Given the description of an element on the screen output the (x, y) to click on. 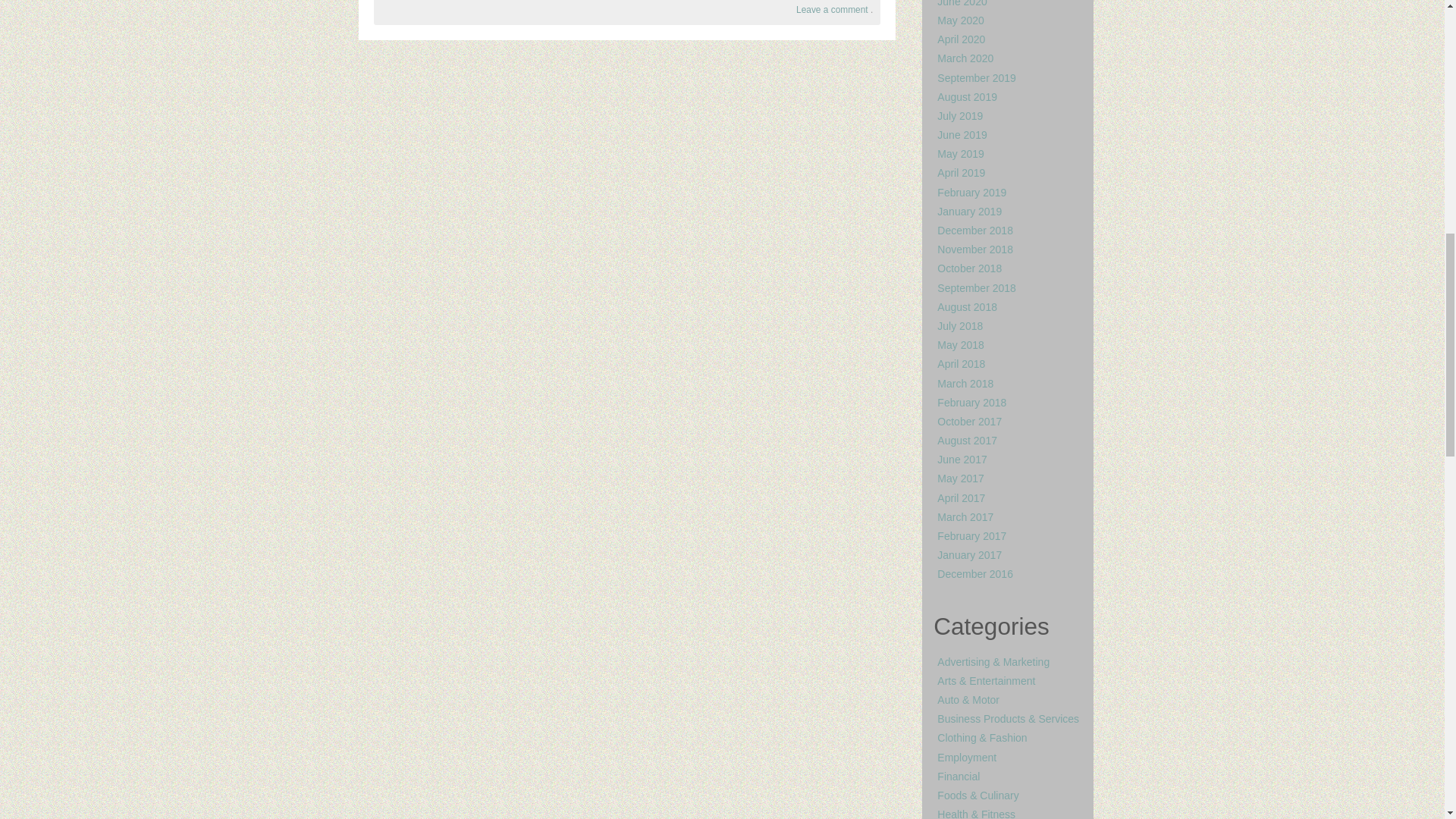
Leave a comment (831, 9)
